Given the description of an element on the screen output the (x, y) to click on. 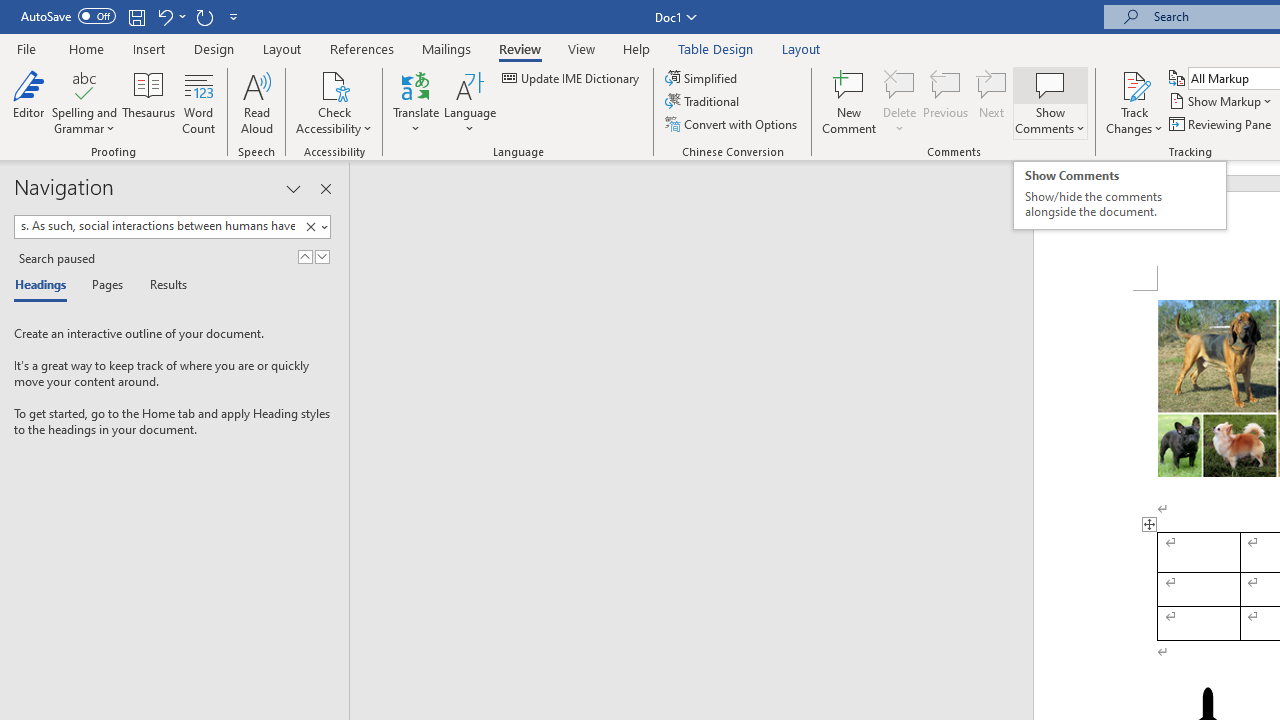
Show Comments (1050, 84)
Word Count (198, 102)
Previous Result (304, 256)
Delete (900, 84)
Results (161, 285)
Next (991, 102)
Traditional (703, 101)
Track Changes (1134, 84)
Language (470, 102)
Simplified (702, 78)
Check Accessibility (334, 102)
Headings (45, 285)
